Given the description of an element on the screen output the (x, y) to click on. 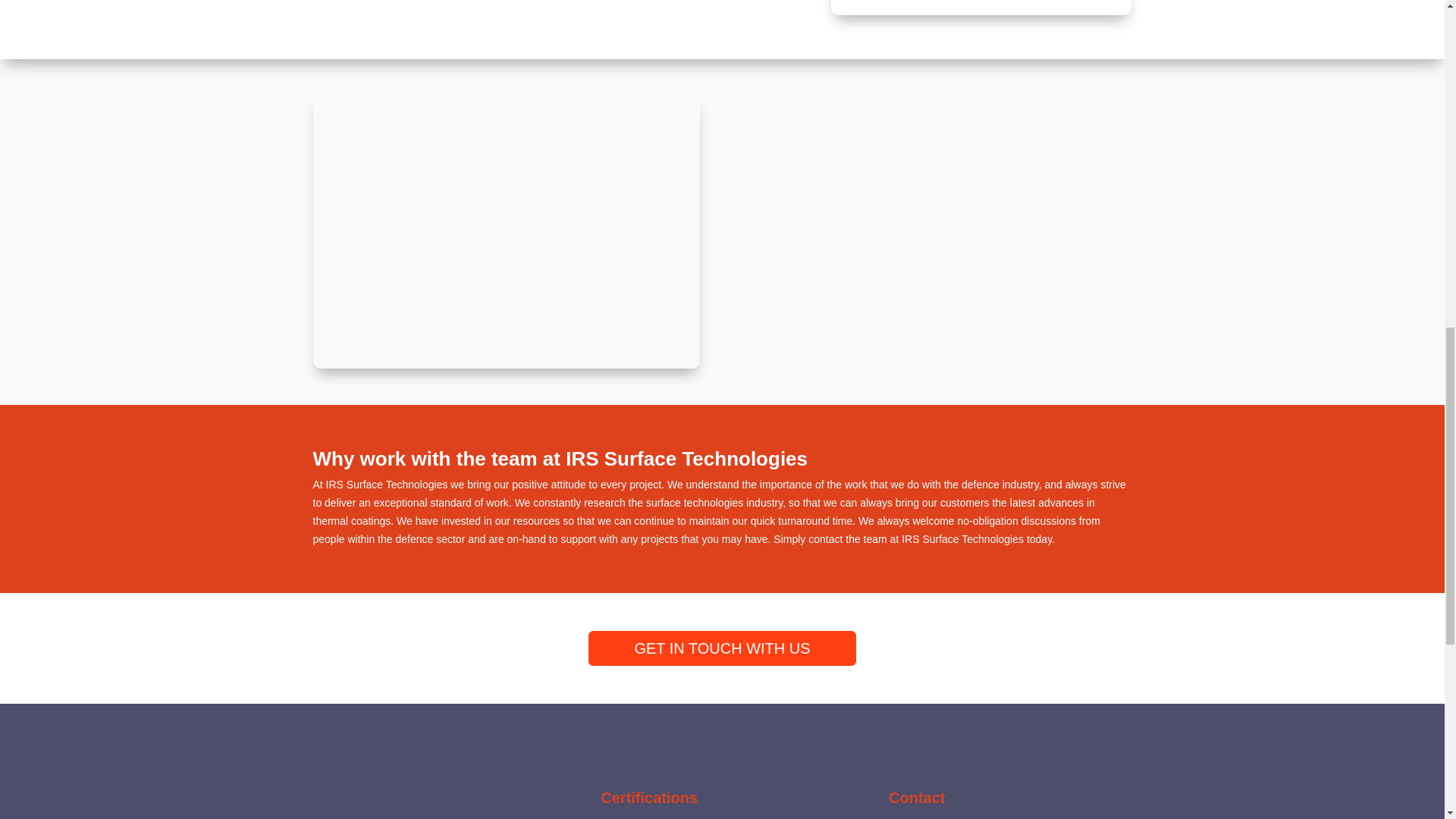
IRS-Logo-White (433, 804)
